Given the description of an element on the screen output the (x, y) to click on. 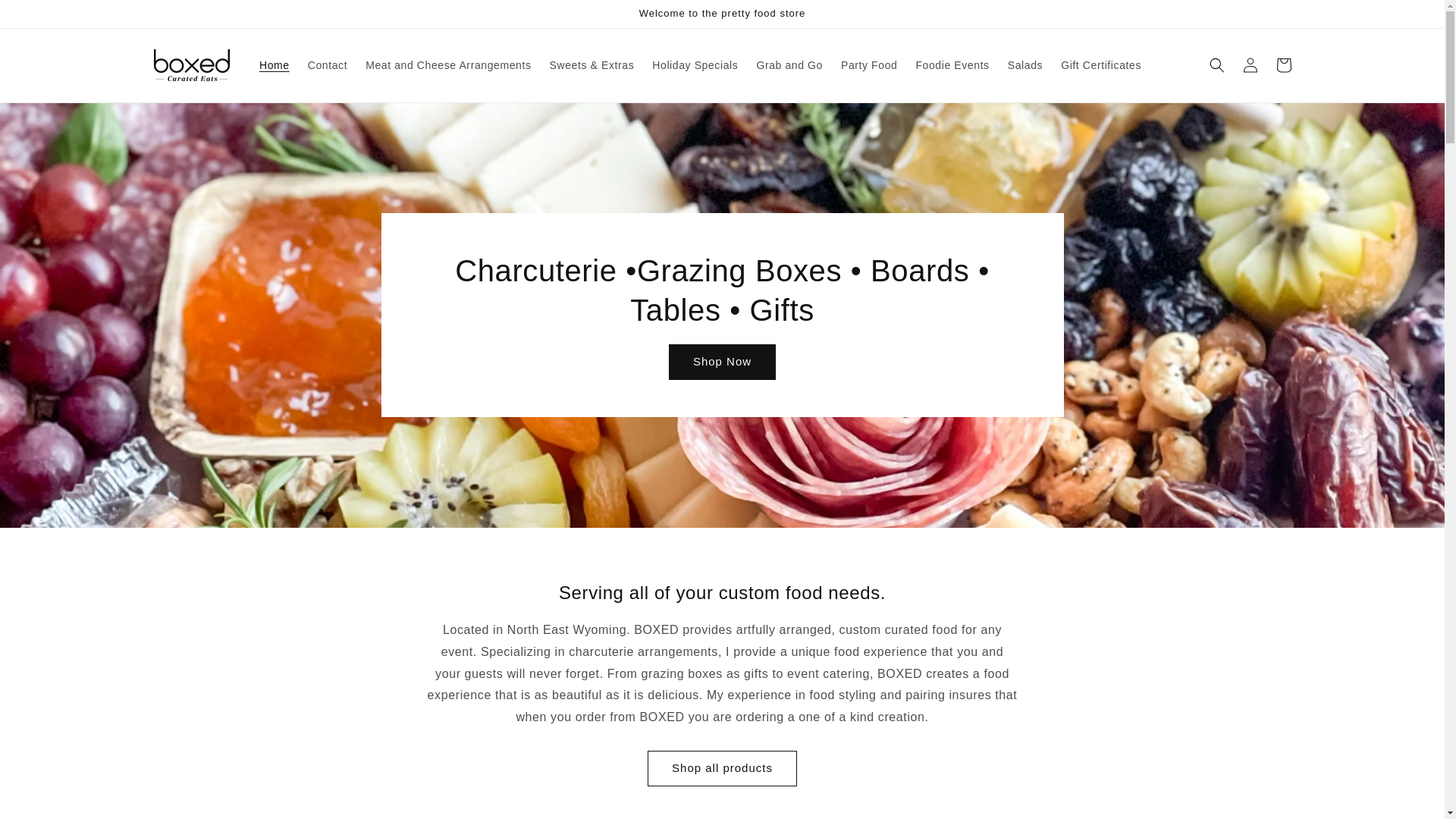
Home (274, 65)
Meat and Cheese Arrangements (448, 65)
Grab and Go (788, 65)
Shop Now (721, 361)
Skip to content (45, 16)
Shop all products (721, 768)
Salads (1024, 65)
Party Food (868, 65)
Log in (1249, 64)
Gift Certificates (1100, 65)
Cart (1283, 64)
Holiday Specials (694, 65)
Contact (327, 65)
Foodie Events (951, 65)
